Given the description of an element on the screen output the (x, y) to click on. 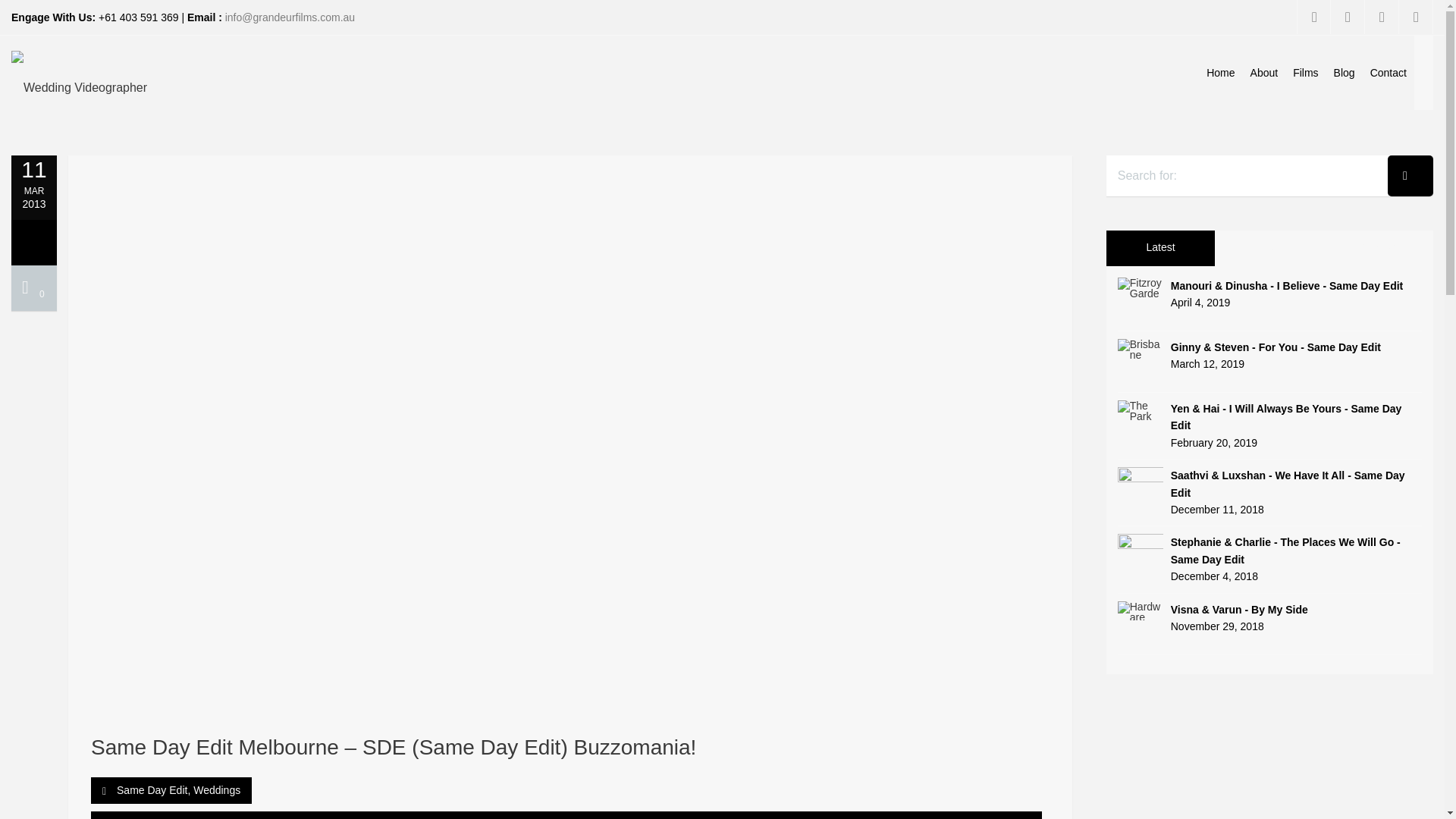
About Element type: text (1264, 72)
Visna & Varun - By My Side
November 29, 2018 Element type: text (1269, 618)
Weddings Element type: text (216, 790)
Blog Element type: text (1344, 72)
Manouri & Dinusha - I Believe - Same Day Edit
April 4, 2019 Element type: text (1269, 294)
Same Day Edit Element type: text (151, 790)
info@grandeurfilms.com.au Element type: text (289, 17)
Ginny & Steven - For You - Same Day Edit
March 12, 2019 Element type: text (1269, 355)
Home Element type: text (1220, 72)
11
MAR
2013 Element type: text (33, 182)
Contact Element type: text (1388, 72)
Films Element type: text (1305, 72)
